Given the description of an element on the screen output the (x, y) to click on. 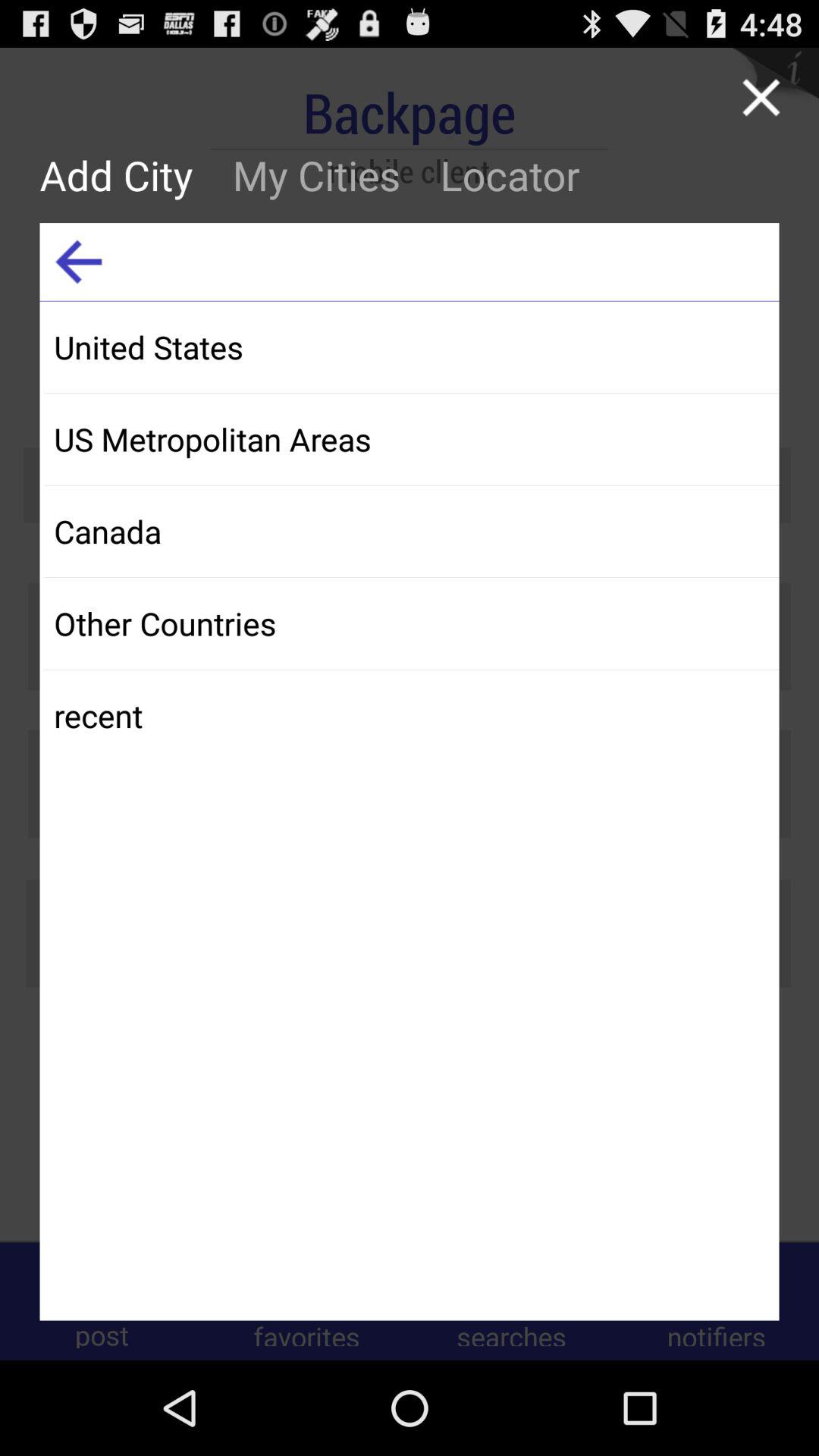
choose the button to the right of add city item (316, 174)
